Given the description of an element on the screen output the (x, y) to click on. 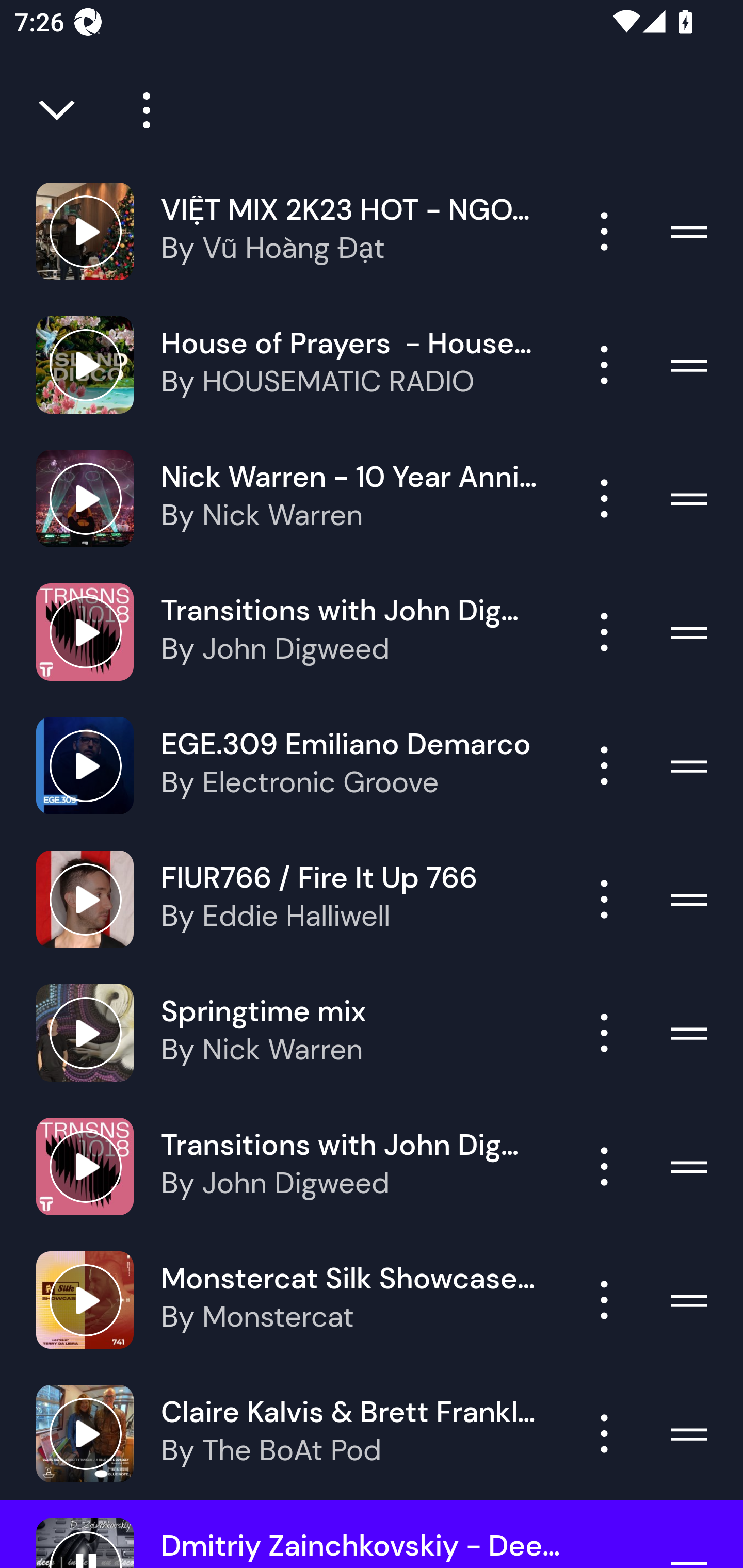
Closes the queue (58, 110)
Queue more options button (139, 110)
Show options button (604, 230)
Show options button (604, 364)
Show options button (604, 498)
Show options button (604, 631)
Show options button (604, 764)
Show options button (604, 898)
Show options button (604, 1032)
Show options button (604, 1166)
Show options button (604, 1299)
Show options button (604, 1432)
